Given the description of an element on the screen output the (x, y) to click on. 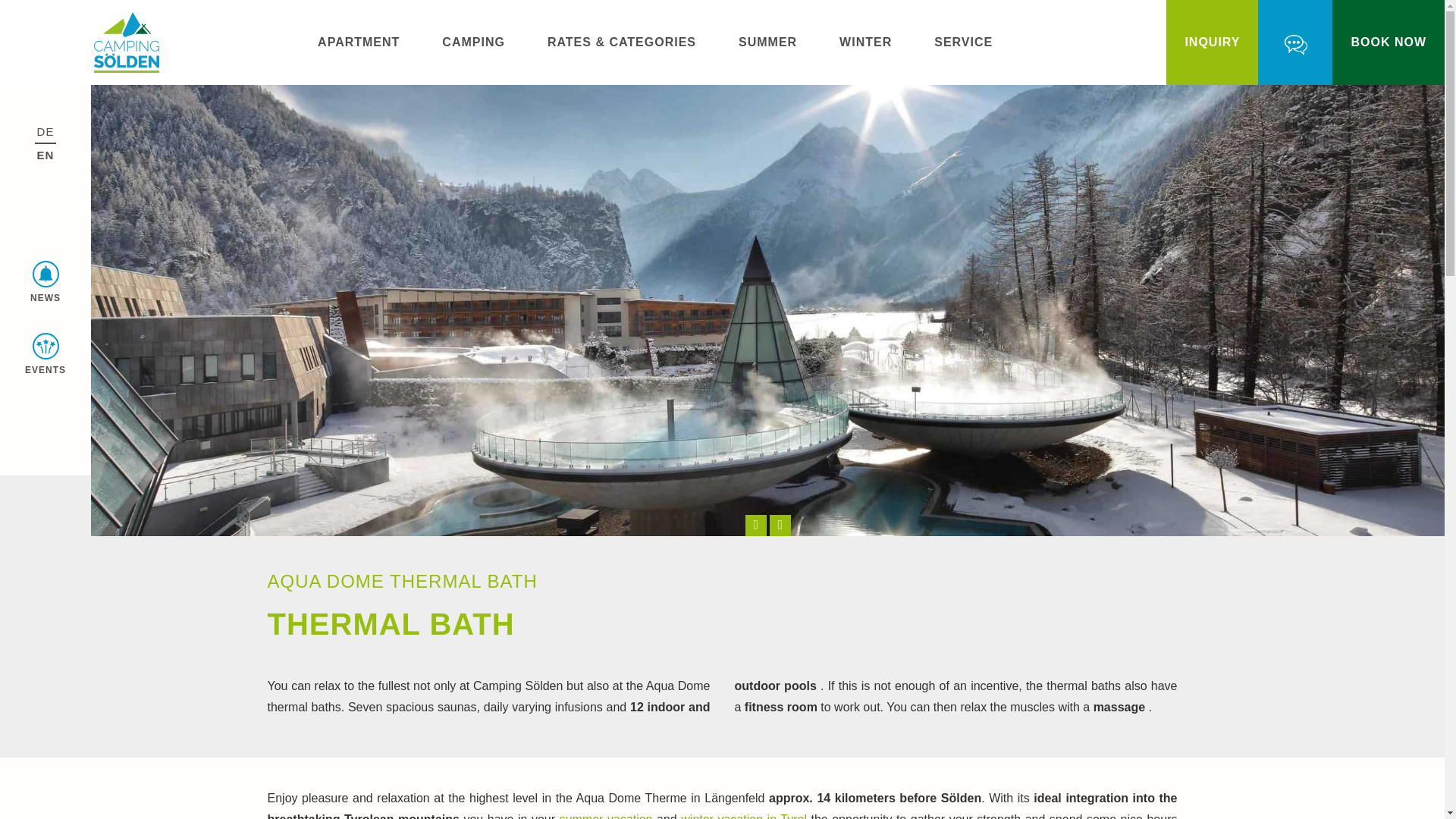
APARTMENT (357, 42)
SUMMER (767, 42)
SERVICE (963, 42)
NEWS (45, 284)
WINTER (865, 42)
EN (45, 155)
DE (45, 131)
EVENTS (45, 356)
CAMPING (473, 42)
